Given the description of an element on the screen output the (x, y) to click on. 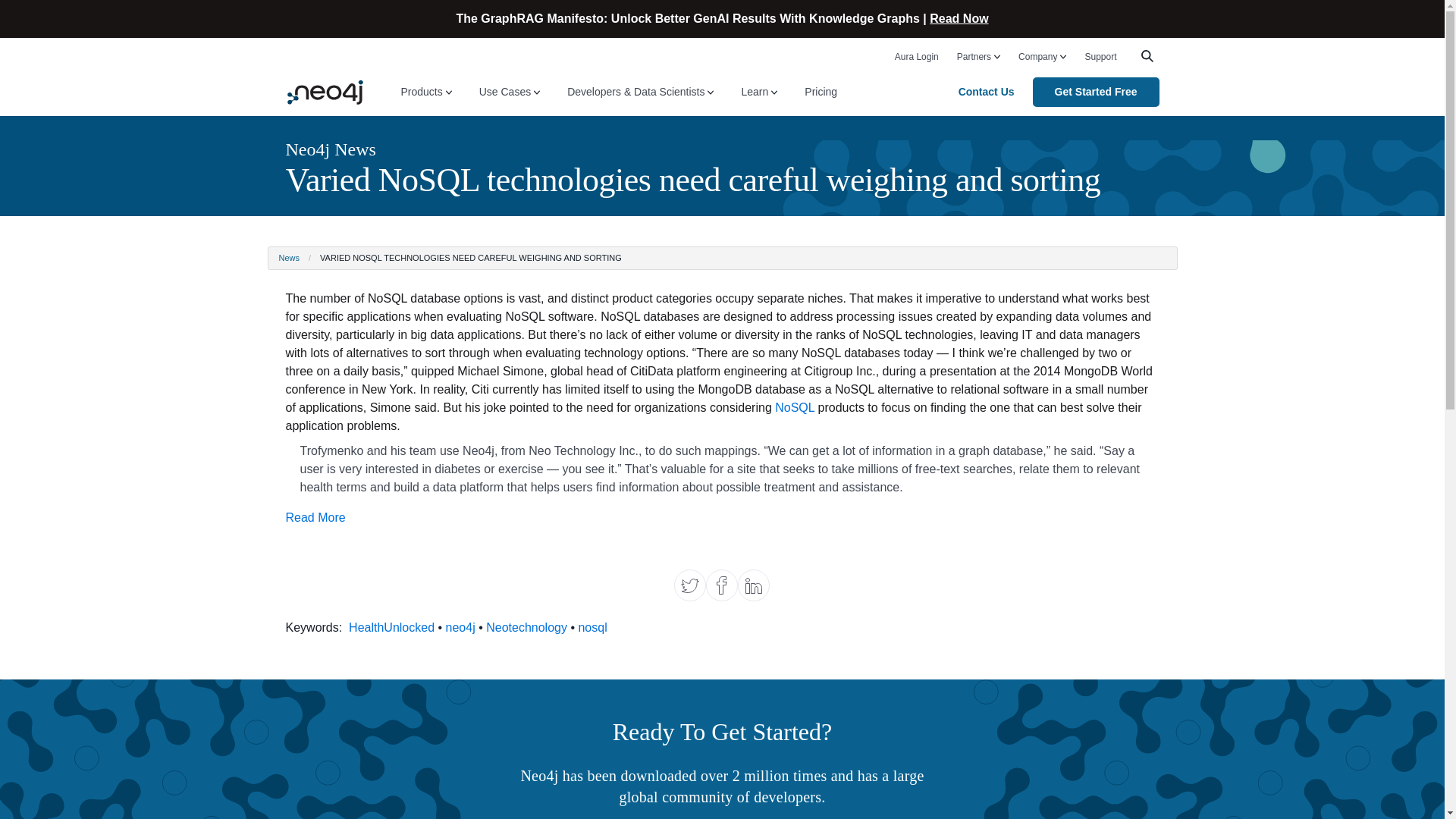
Read Now (959, 18)
